Given the description of an element on the screen output the (x, y) to click on. 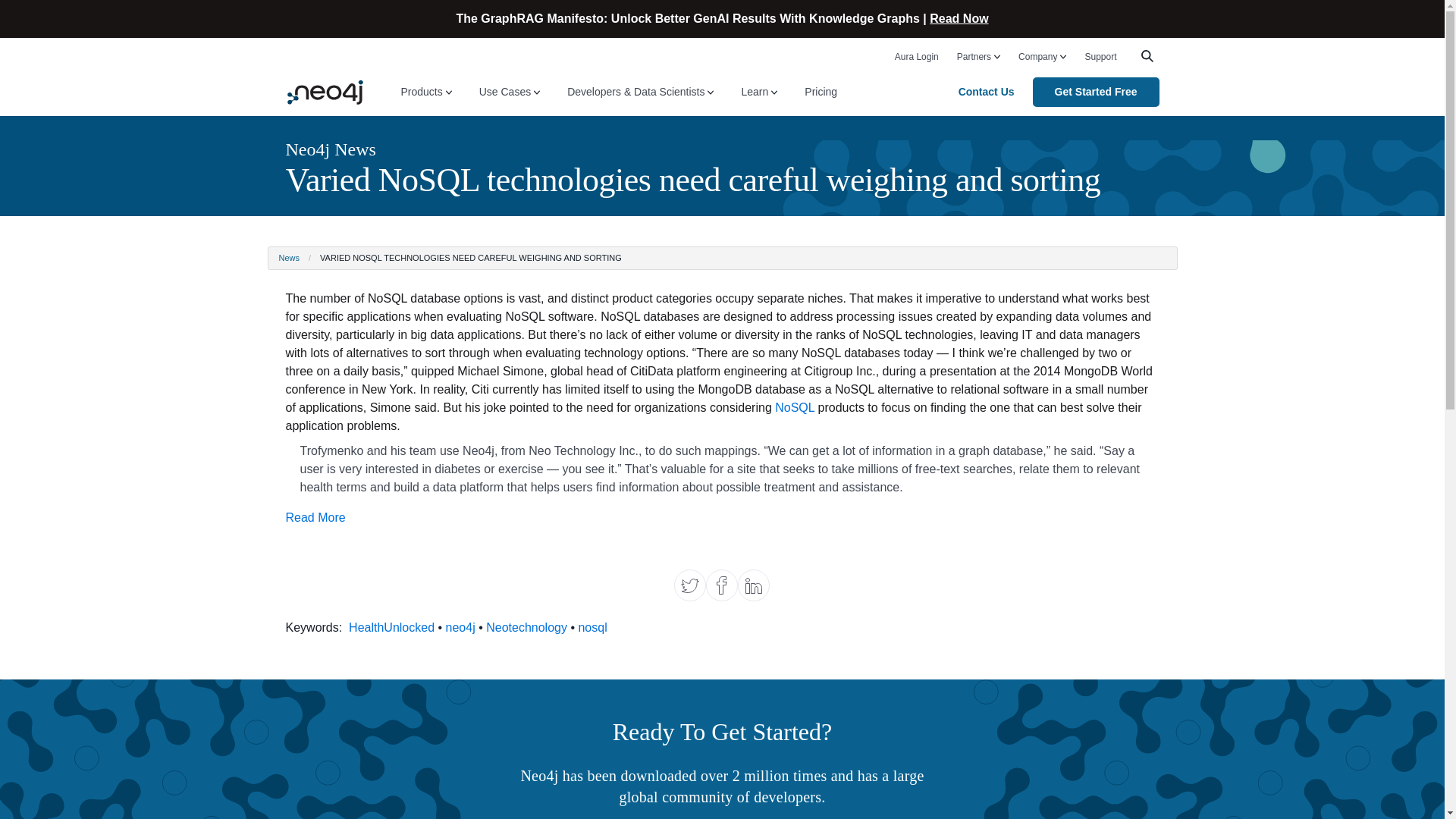
Read Now (959, 18)
